Given the description of an element on the screen output the (x, y) to click on. 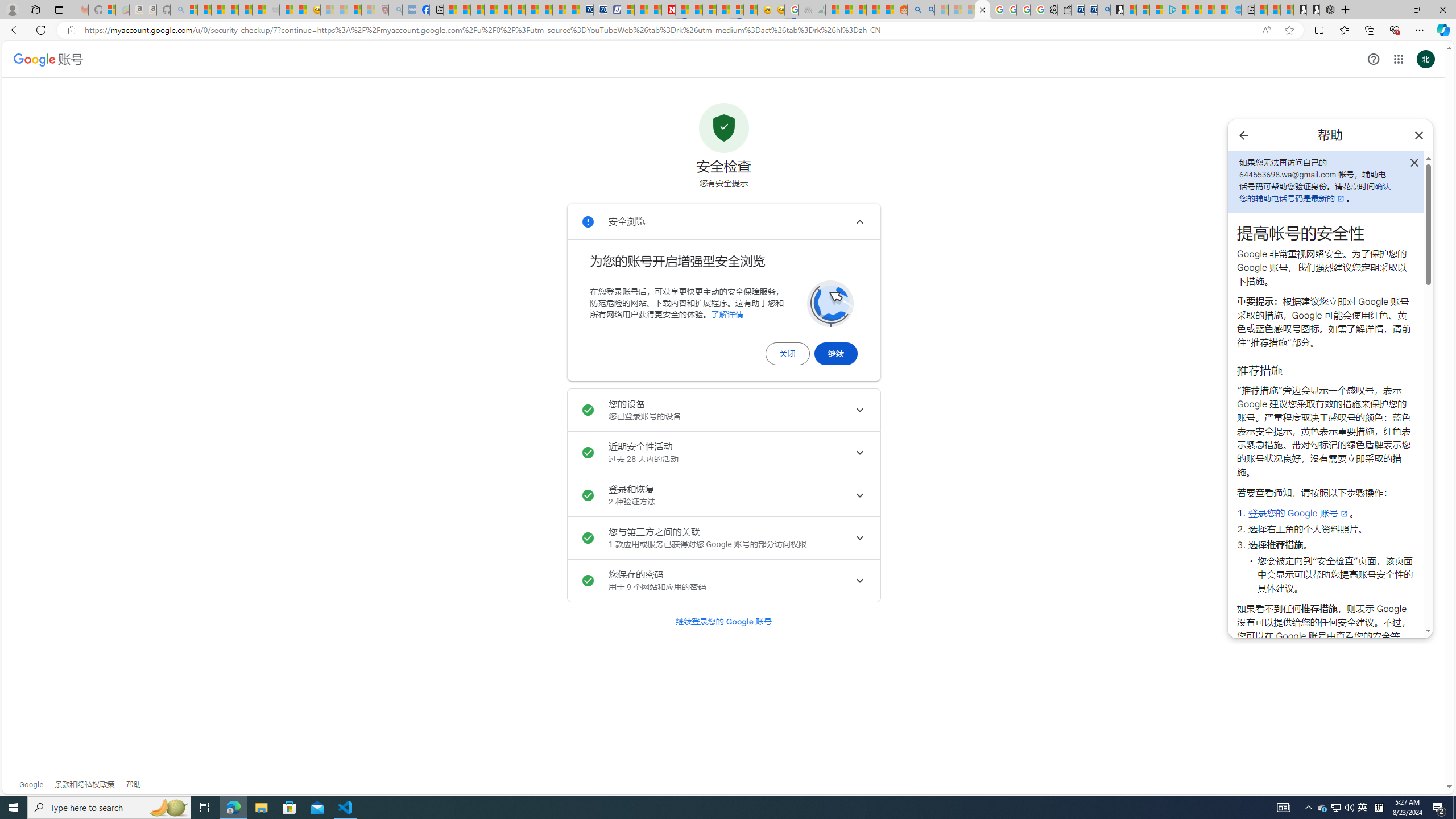
Class: gb_E (1398, 59)
